Given the description of an element on the screen output the (x, y) to click on. 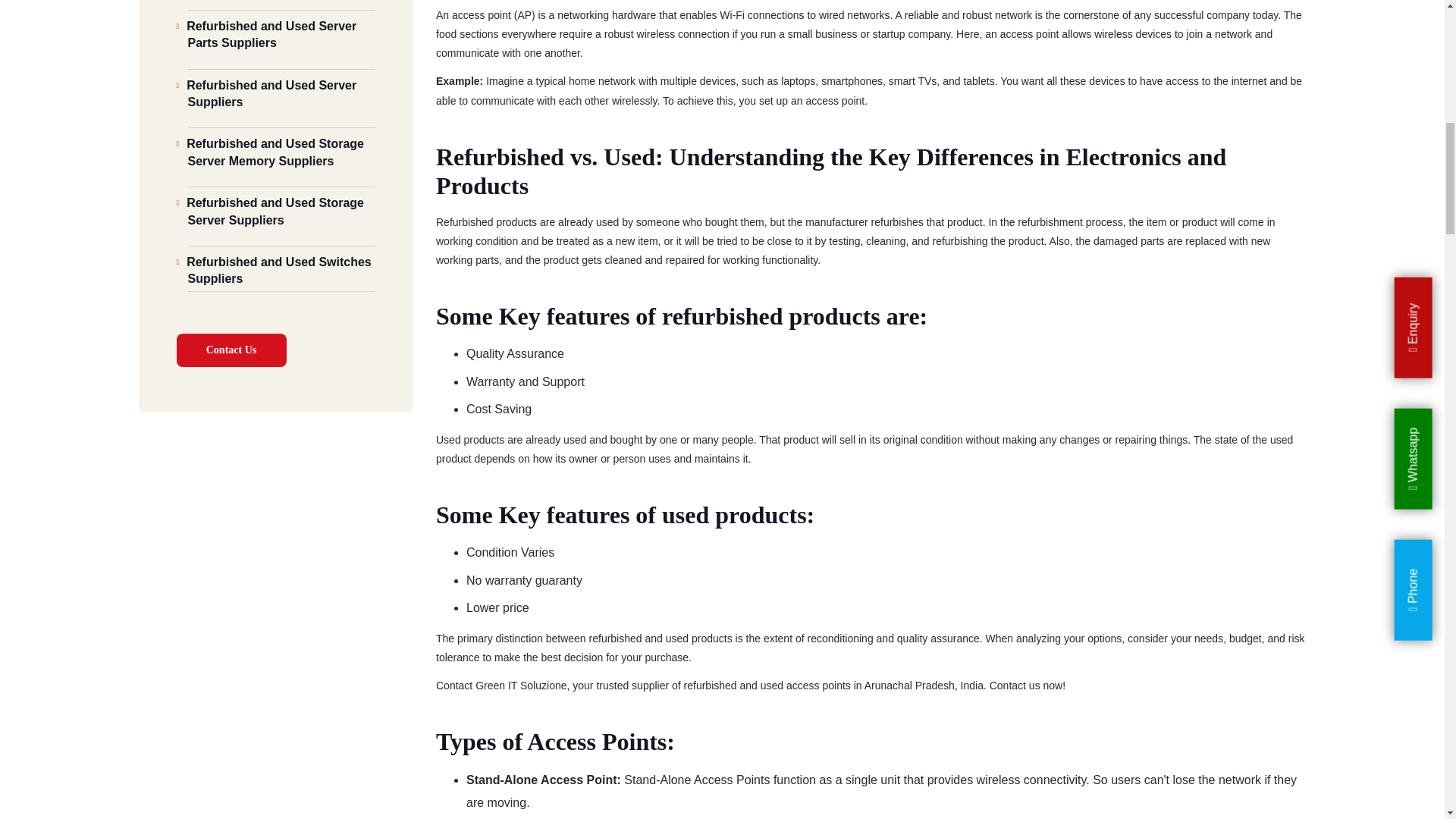
Refurbished and Used Server Suppliers (281, 90)
Contact Us (230, 349)
Refurbished and Used Server Parts Suppliers (281, 31)
Refurbished and Used Storage Server Memory Suppliers (281, 148)
Refurbished and Used Switches Suppliers (281, 267)
Refurbished and Used Storage Server Suppliers (281, 208)
